Given the description of an element on the screen output the (x, y) to click on. 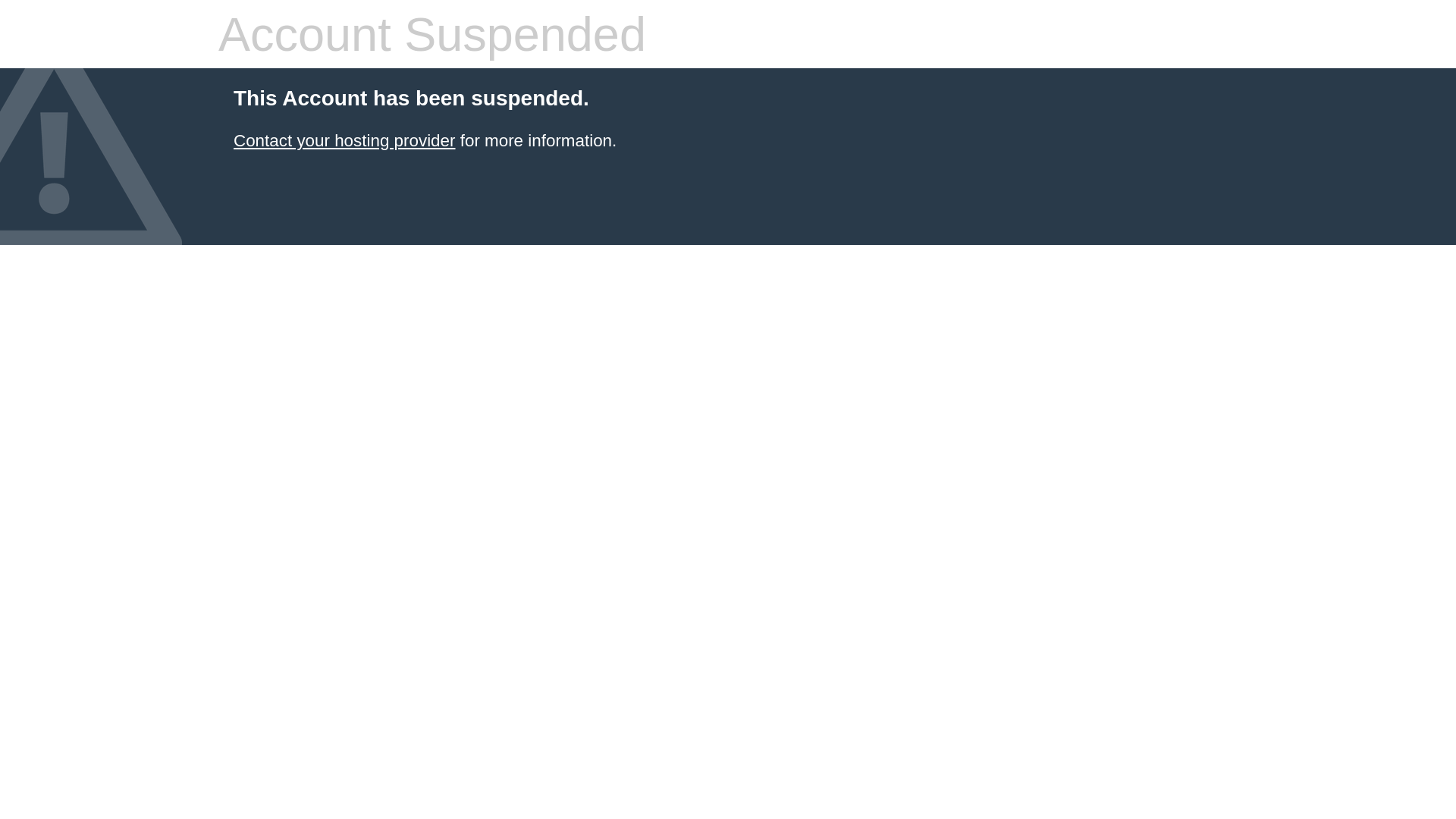
Contact your hosting provider Element type: text (344, 140)
